Given the description of an element on the screen output the (x, y) to click on. 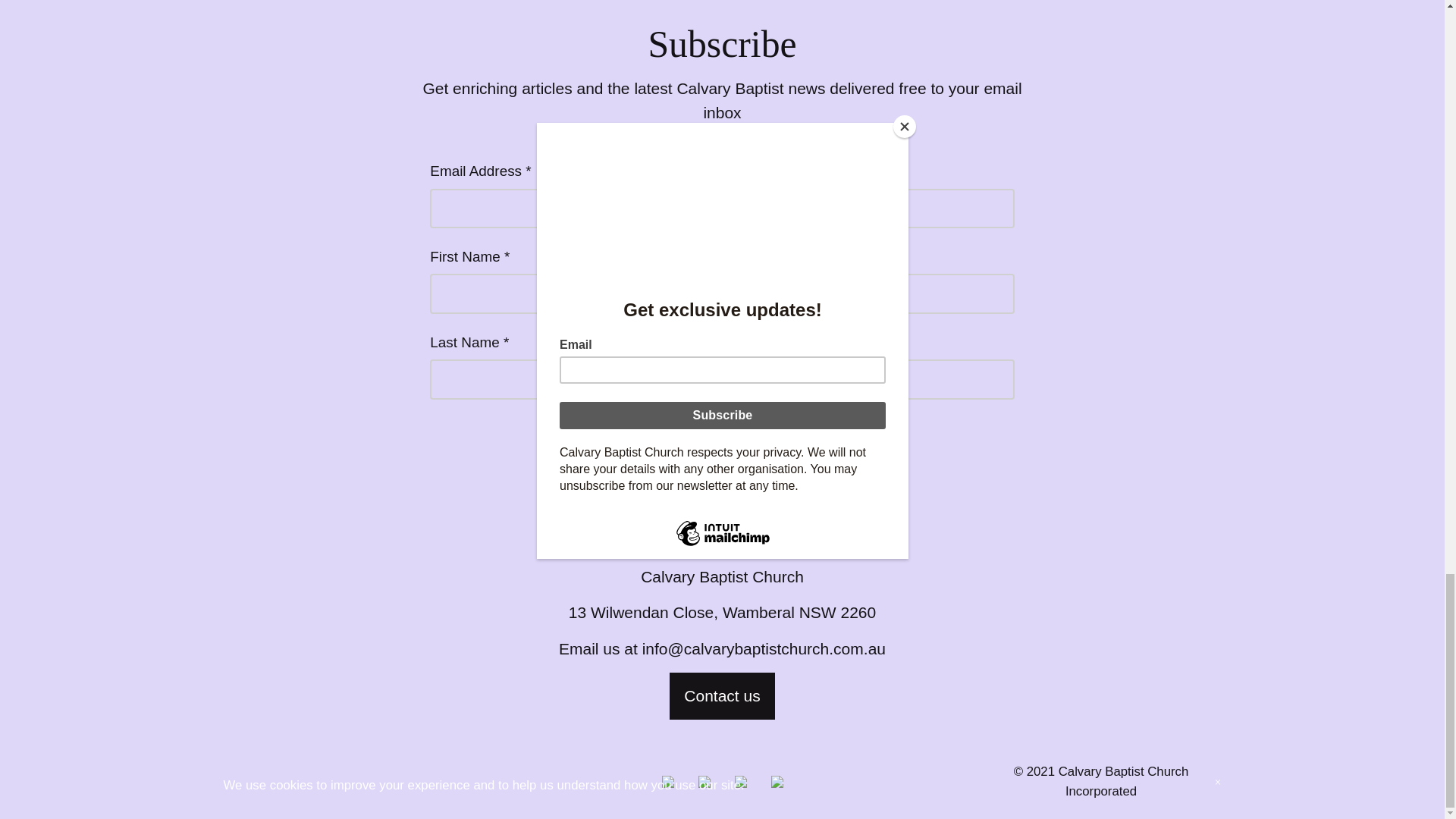
Subscribe (721, 443)
Contact us (721, 695)
